Given the description of an element on the screen output the (x, y) to click on. 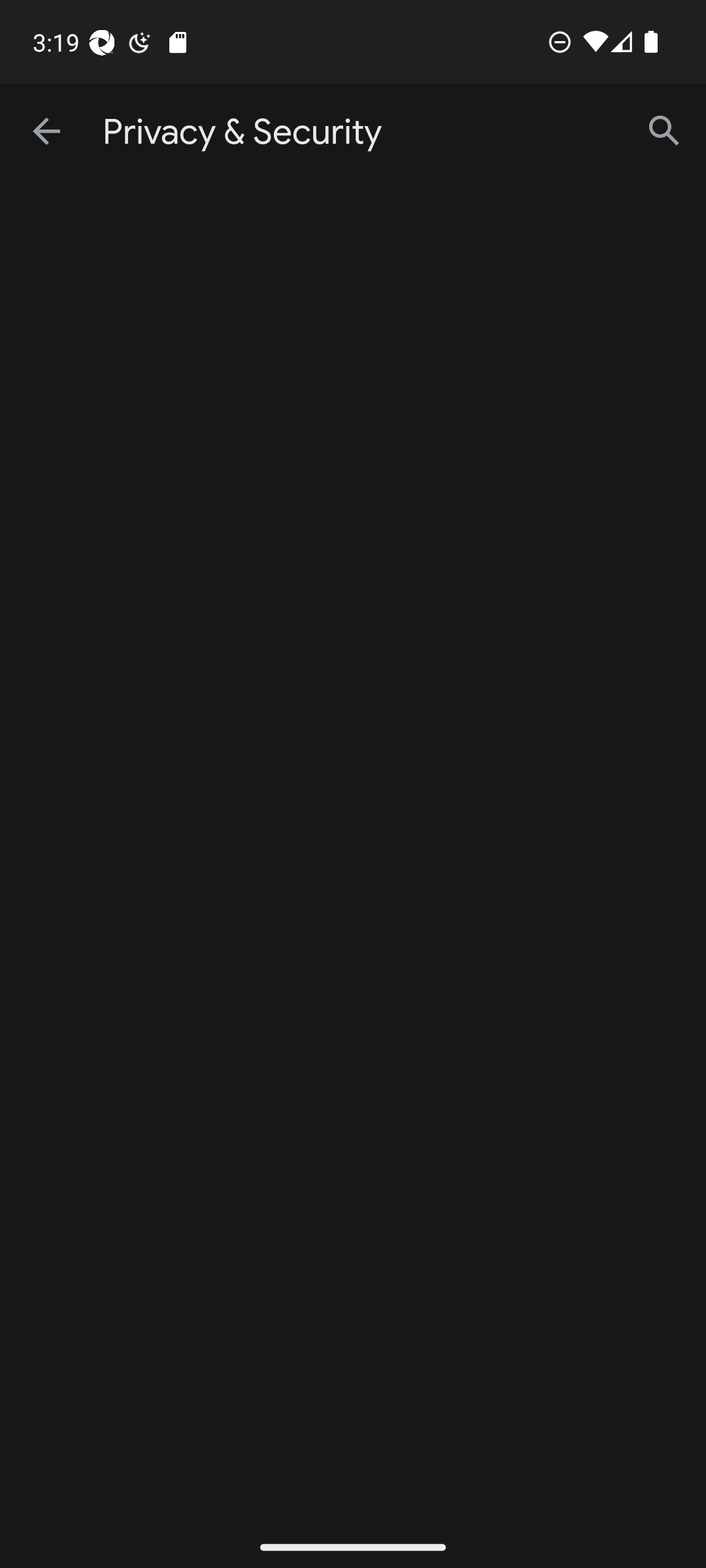
Navigate up (48, 131)
Search (664, 131)
